Given the description of an element on the screen output the (x, y) to click on. 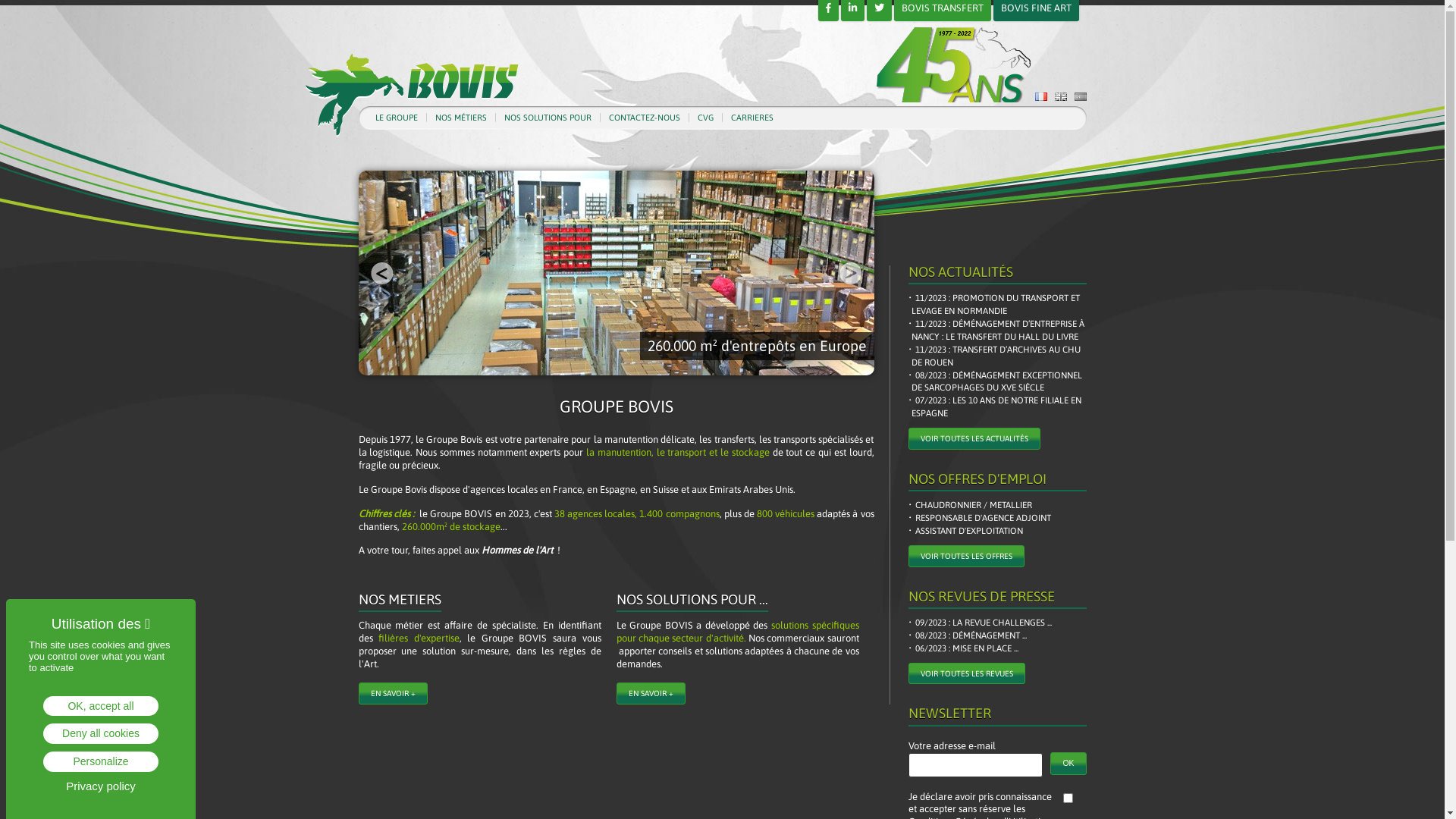
CARRIERES Element type: text (752, 117)
07/2023 : LES 10 ANS DE NOTRE FILIALE EN ESPAGNE Element type: text (998, 407)
ASSISTANT D'EXPLOITATION Element type: text (966, 530)
11/2023 : PROMOTION DU TRANSPORT ET LEVAGE EN NORMANDIE Element type: text (998, 304)
RESPONSABLE D'AGENCE ADJOINT Element type: text (981, 517)
en Element type: text (1060, 96)
06/2023 : MISE EN PLACE ... Element type: text (964, 648)
NOS SOLUTIONS POUR Element type: text (546, 117)
VOIR TOUTES LES REVUES Element type: text (966, 673)
EN SAVOIR + Element type: text (649, 693)
LE GROUPE Element type: text (395, 117)
EN SAVOIR + Element type: text (391, 693)
fr Element type: text (1040, 96)
09/2023 : LA REVUE CHALLENGES ... Element type: text (981, 622)
VOIR TOUTES LES OFFRES Element type: text (966, 556)
CVG Element type: text (705, 117)
CHAUDRONNIER / METALLIER Element type: text (971, 504)
es Element type: text (1079, 96)
CONTACTEZ-NOUS Element type: text (643, 117)
OK Element type: text (1067, 763)
